Given the description of an element on the screen output the (x, y) to click on. 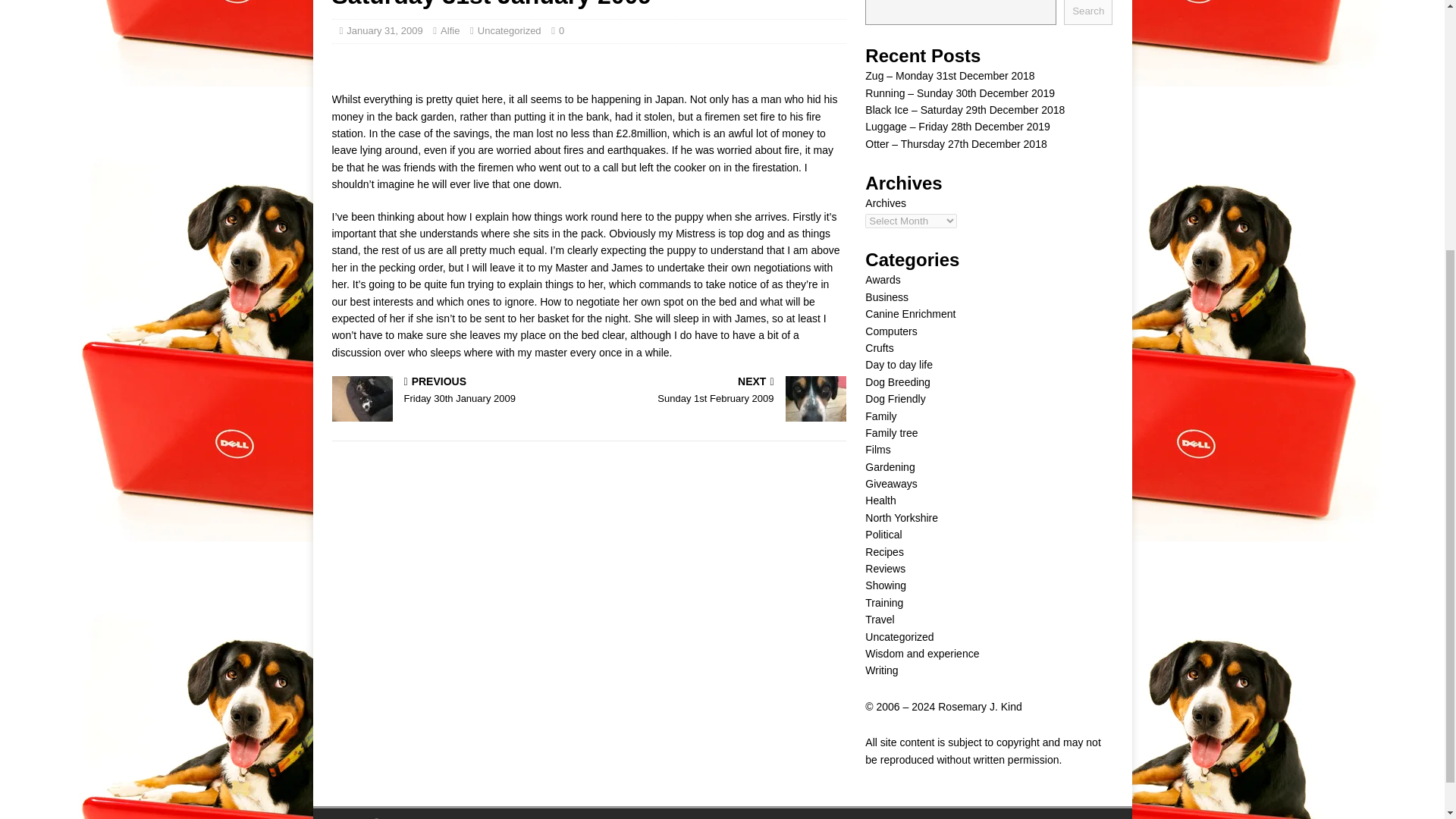
January 31, 2009 (384, 30)
Uncategorized (509, 30)
Business (886, 297)
Political (882, 534)
North Yorkshire (457, 391)
Dog Friendly (900, 517)
Crufts (894, 398)
Dog Breeding (878, 347)
Family tree (897, 381)
